Given the description of an element on the screen output the (x, y) to click on. 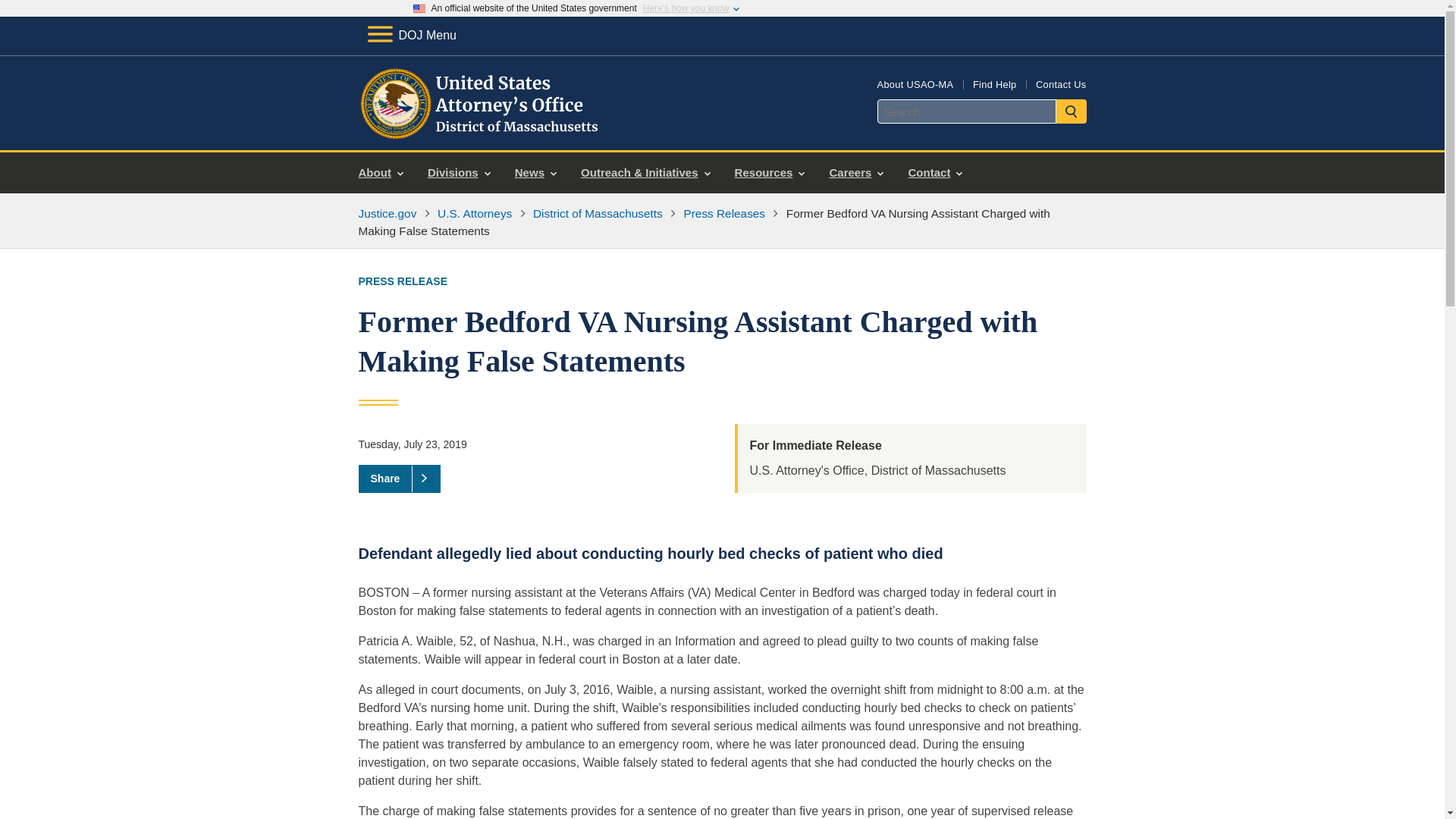
Resources (769, 173)
Contact Us (1060, 84)
About (380, 173)
Here's how you know (686, 8)
U.S. Attorneys (475, 213)
Share (398, 478)
Press Releases (723, 213)
Contact (934, 173)
Divisions (458, 173)
Justice.gov (387, 213)
Careers (855, 173)
Find Help (994, 84)
About USAO-MA (915, 84)
District of Massachusetts (597, 213)
DOJ Menu (411, 35)
